Given the description of an element on the screen output the (x, y) to click on. 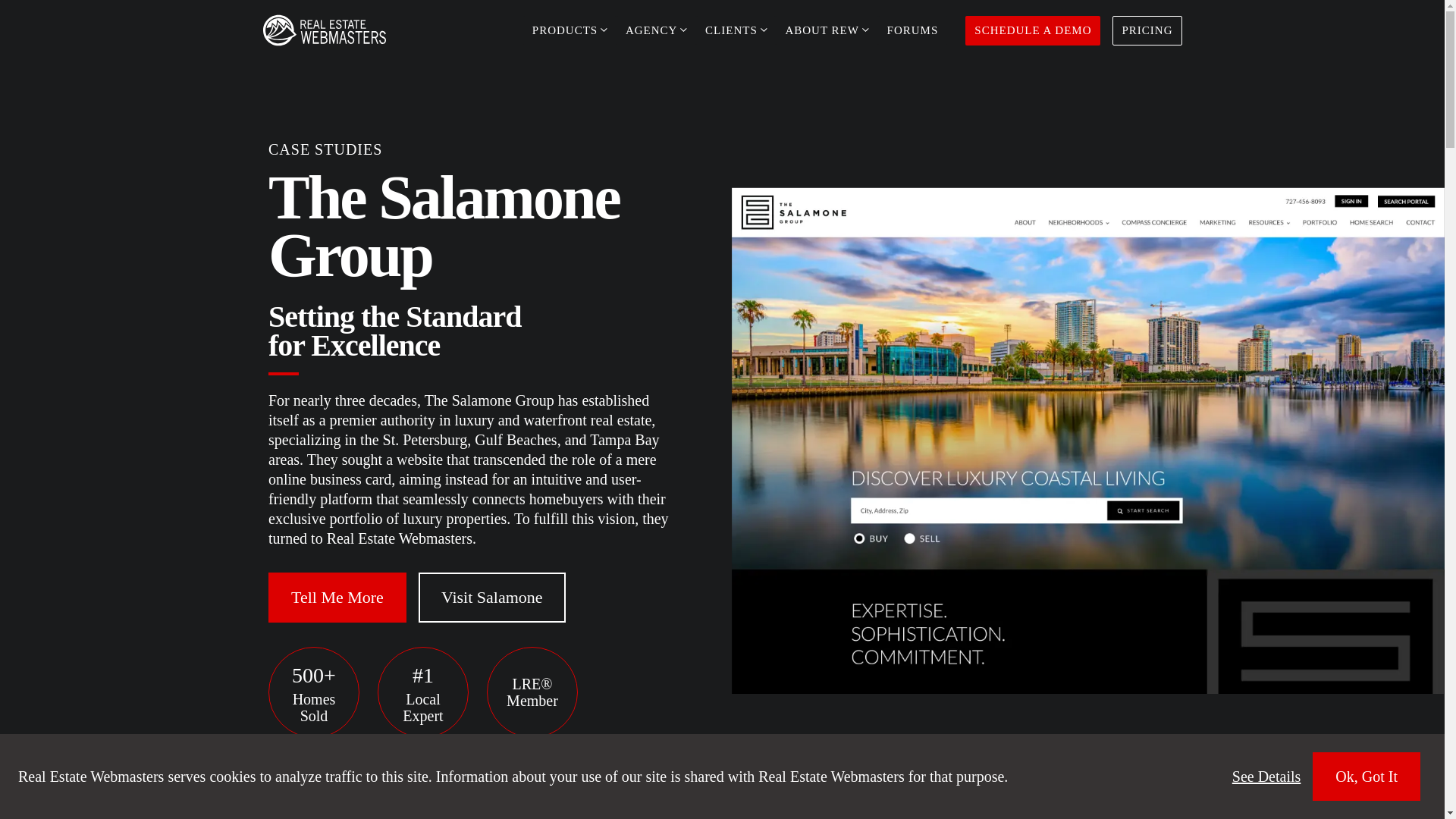
Ok, Got It (1367, 776)
Tell Me More (336, 597)
PRODUCTS (568, 30)
AGENCY (655, 30)
Visit Salamone (492, 597)
ABOUT REW (826, 30)
PRICING (1146, 30)
CLIENTS (735, 30)
FORUMS (912, 30)
See Details (1266, 776)
SCHEDULE A DEMO (1032, 30)
